Given the description of an element on the screen output the (x, y) to click on. 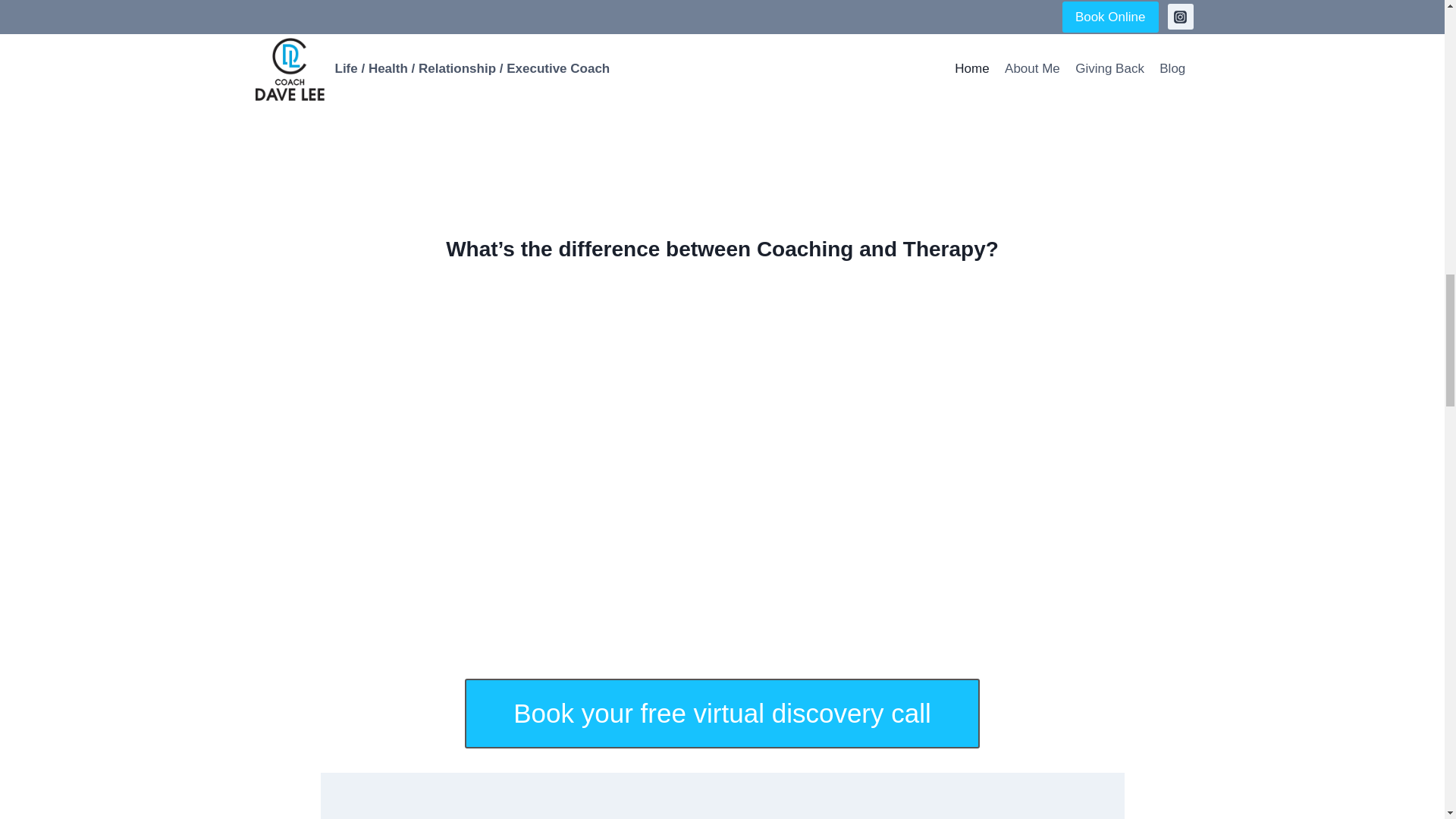
Matt testimony (445, 106)
Book your free virtual discovery call (721, 713)
Maya testimony (445, 6)
Aaron testimony (721, 6)
Carolyn testimony (998, 106)
Hamin testimony (721, 106)
Jenny testimony (998, 6)
